Given the description of an element on the screen output the (x, y) to click on. 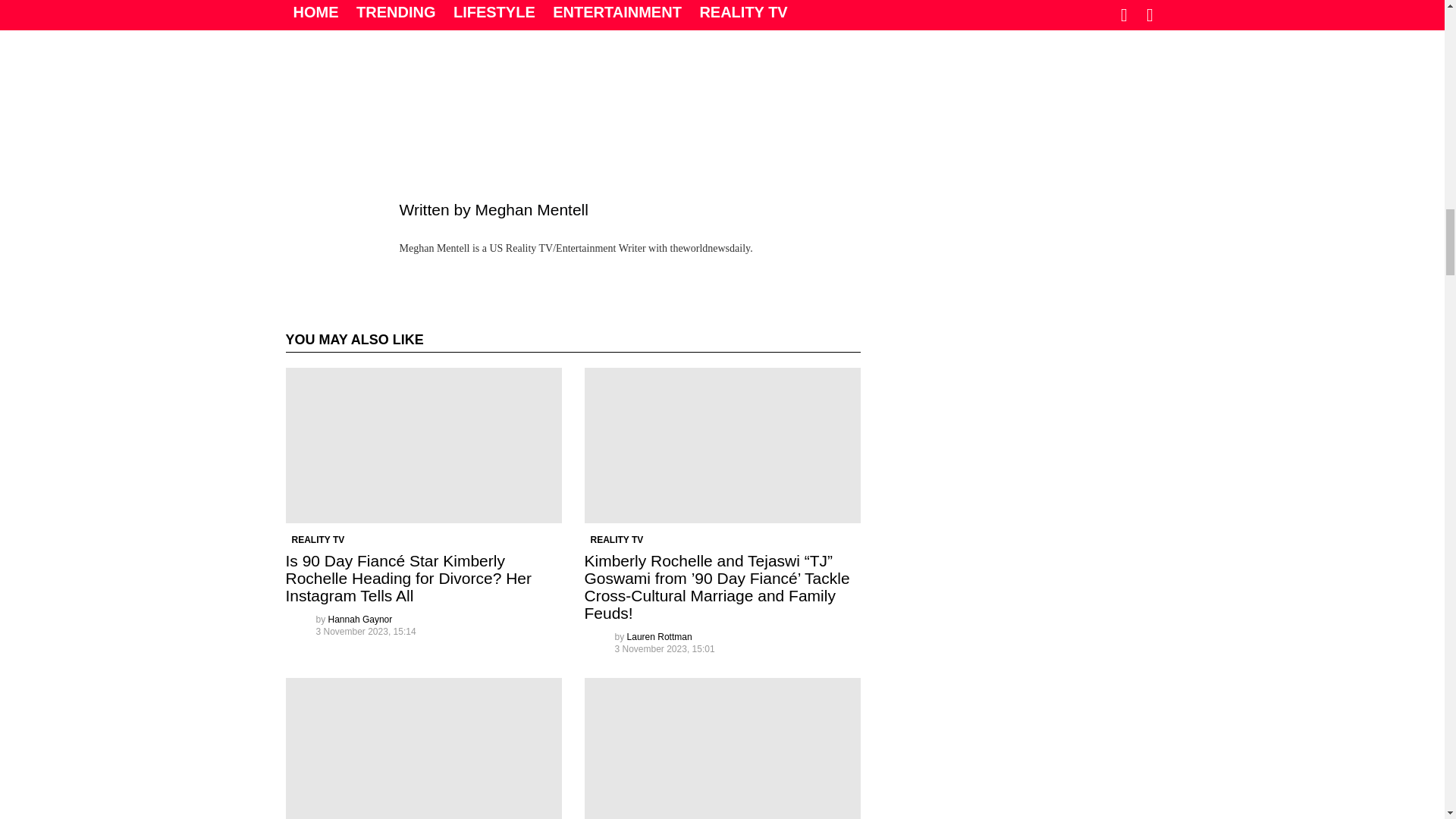
Posts by Hannah Gaynor (361, 619)
Hannah Gaynor (361, 619)
Lauren Rottman (660, 636)
Meghan Mentell (531, 209)
REALITY TV (317, 539)
REALITY TV (616, 539)
Posts by Lauren Rottman (660, 636)
